Given the description of an element on the screen output the (x, y) to click on. 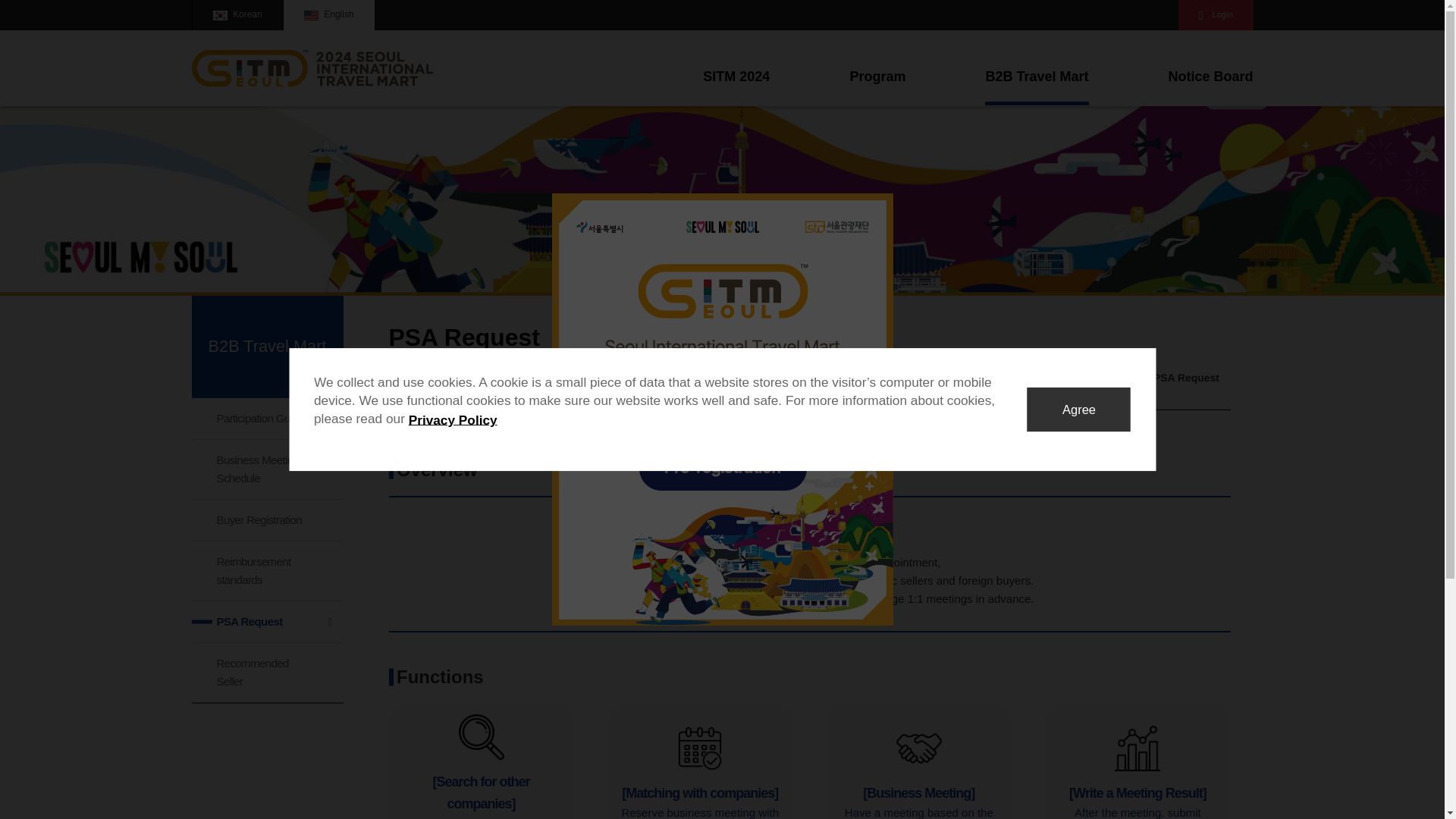
Login (1215, 15)
SITM 2024 (736, 86)
Notice Board (1209, 86)
Program (876, 86)
SITM  2024 (311, 41)
Login (1215, 15)
B2B Travel Mart (1036, 86)
English (328, 15)
Korean (236, 15)
